Given the description of an element on the screen output the (x, y) to click on. 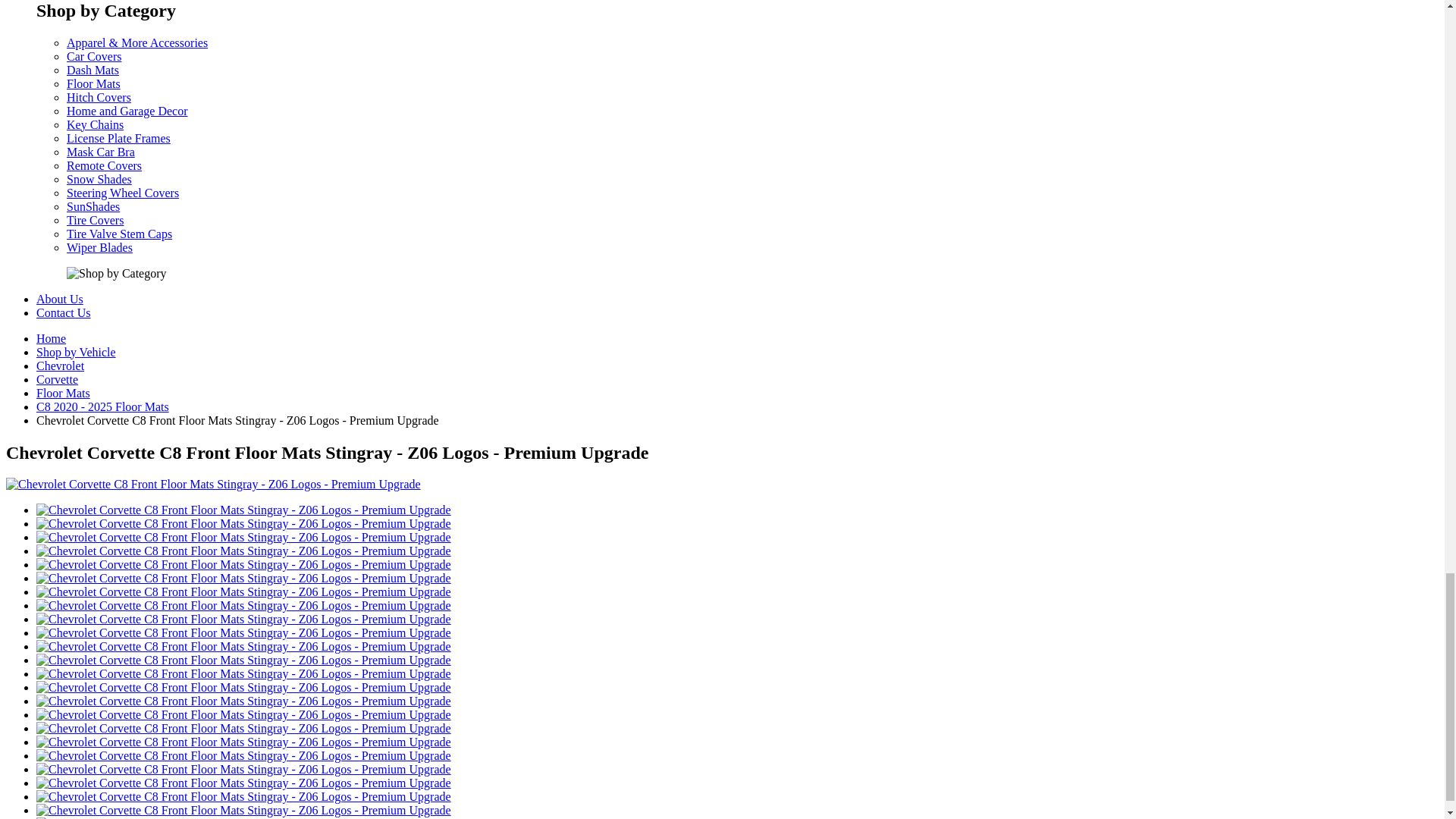
Floor Mats (63, 392)
Corvette (57, 379)
C8 2020 - 2025 Floor Mats (102, 406)
Shop by Vehicle (76, 351)
Chevrolet (60, 365)
Shop by Category (116, 273)
